Given the description of an element on the screen output the (x, y) to click on. 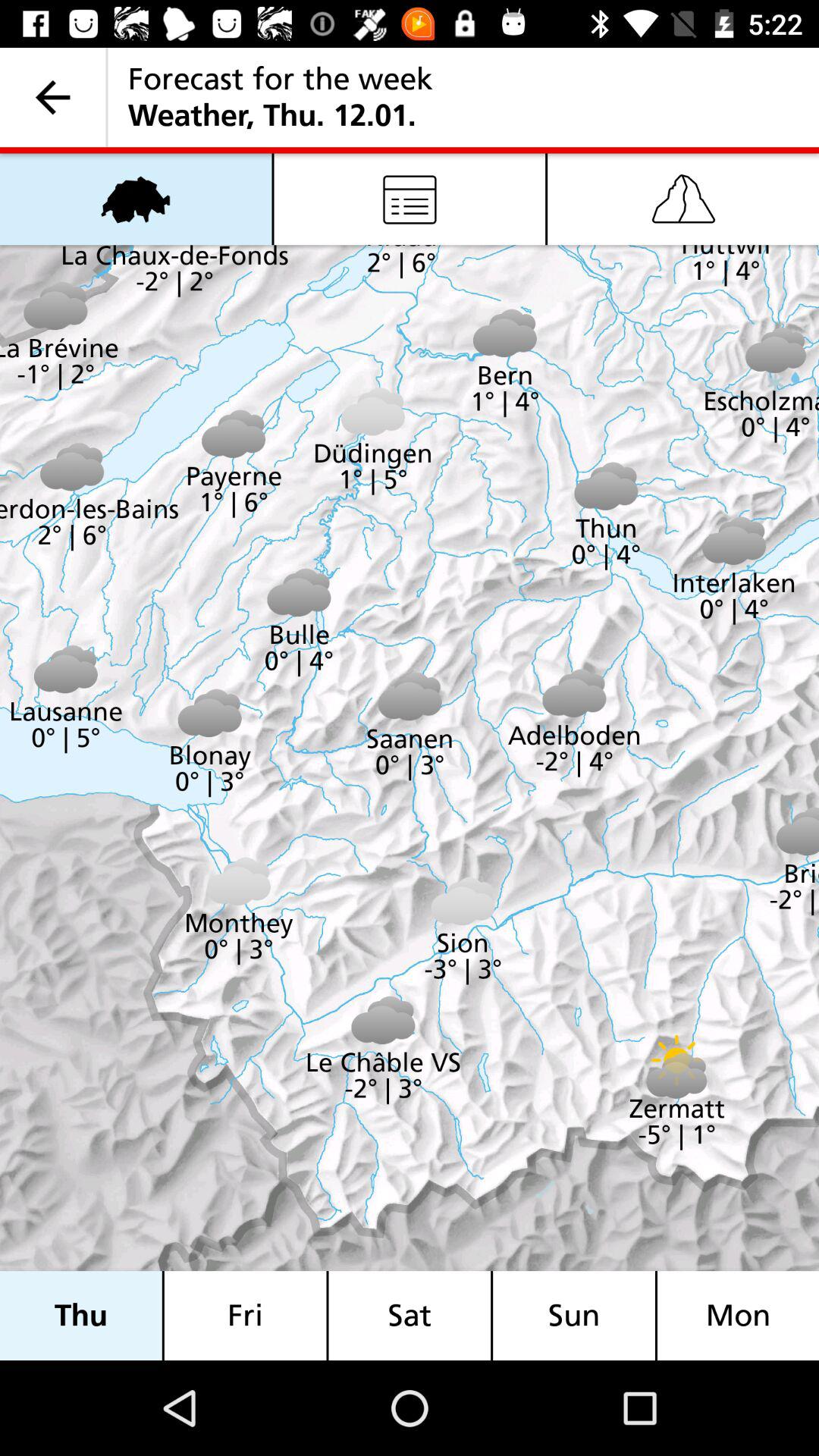
swipe to the fri item (245, 1315)
